Given the description of an element on the screen output the (x, y) to click on. 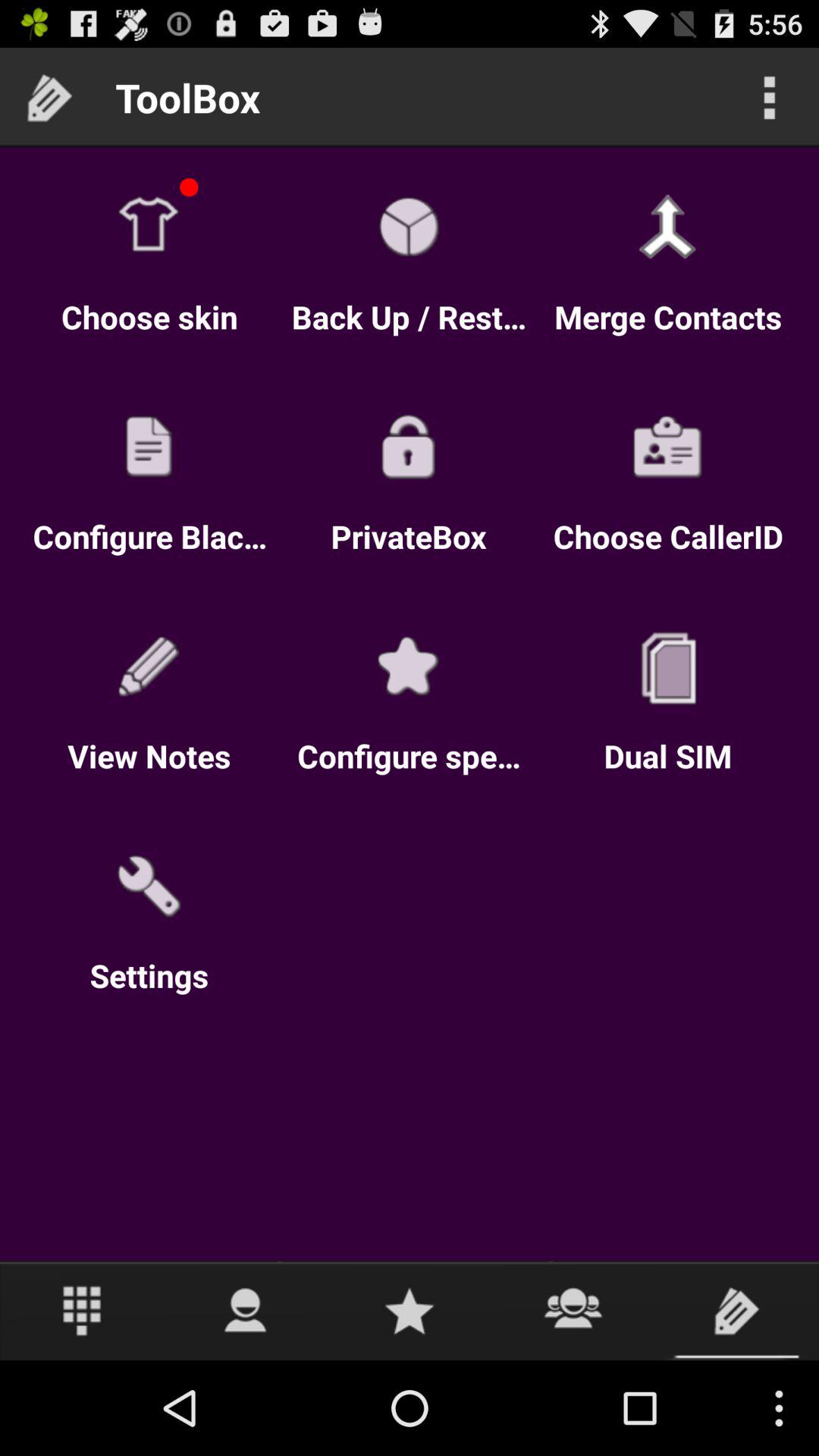
more options (769, 97)
